Given the description of an element on the screen output the (x, y) to click on. 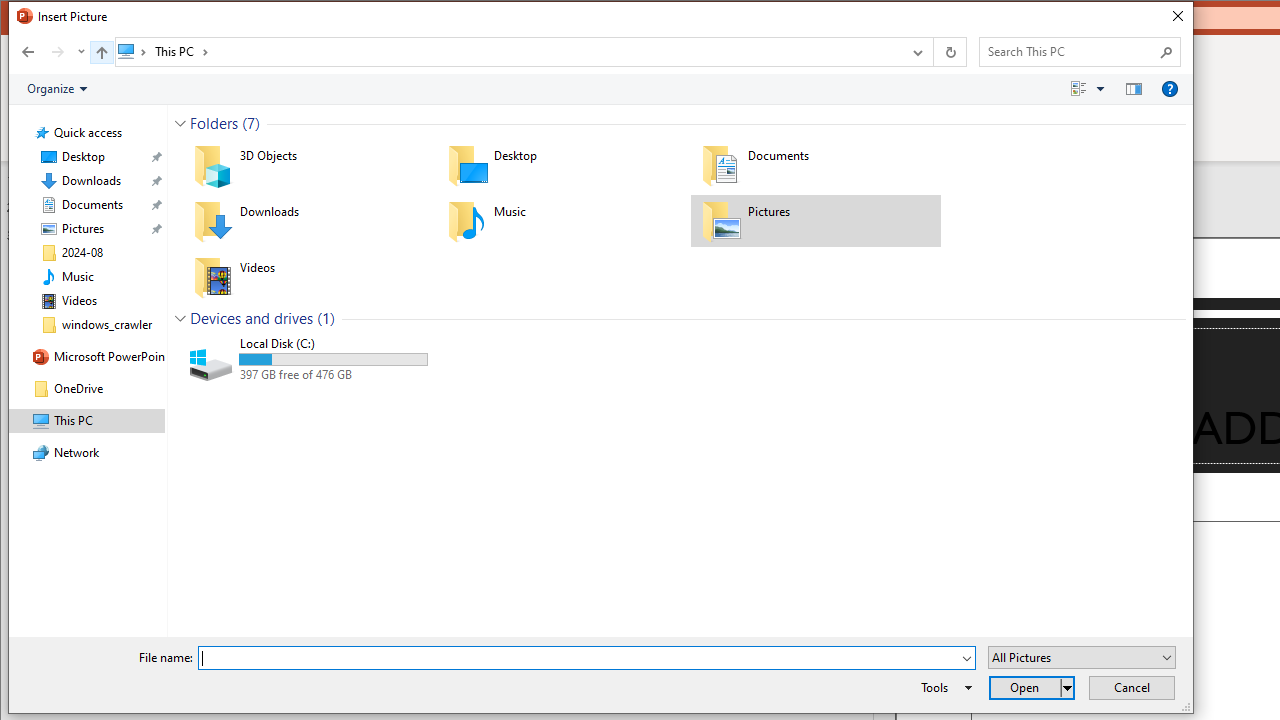
This PC (181, 51)
Downloads (307, 220)
Pictures (815, 220)
File name: (586, 657)
Refresh "This PC" (F5) (949, 51)
Back to Pictures (Alt + Left Arrow) (27, 51)
Videos (307, 277)
Documents (815, 164)
Cancel (1132, 688)
Space used (333, 359)
Music (561, 220)
Search Box (1069, 51)
Tools (943, 687)
Organize (56, 89)
3D Objects (307, 164)
